Given the description of an element on the screen output the (x, y) to click on. 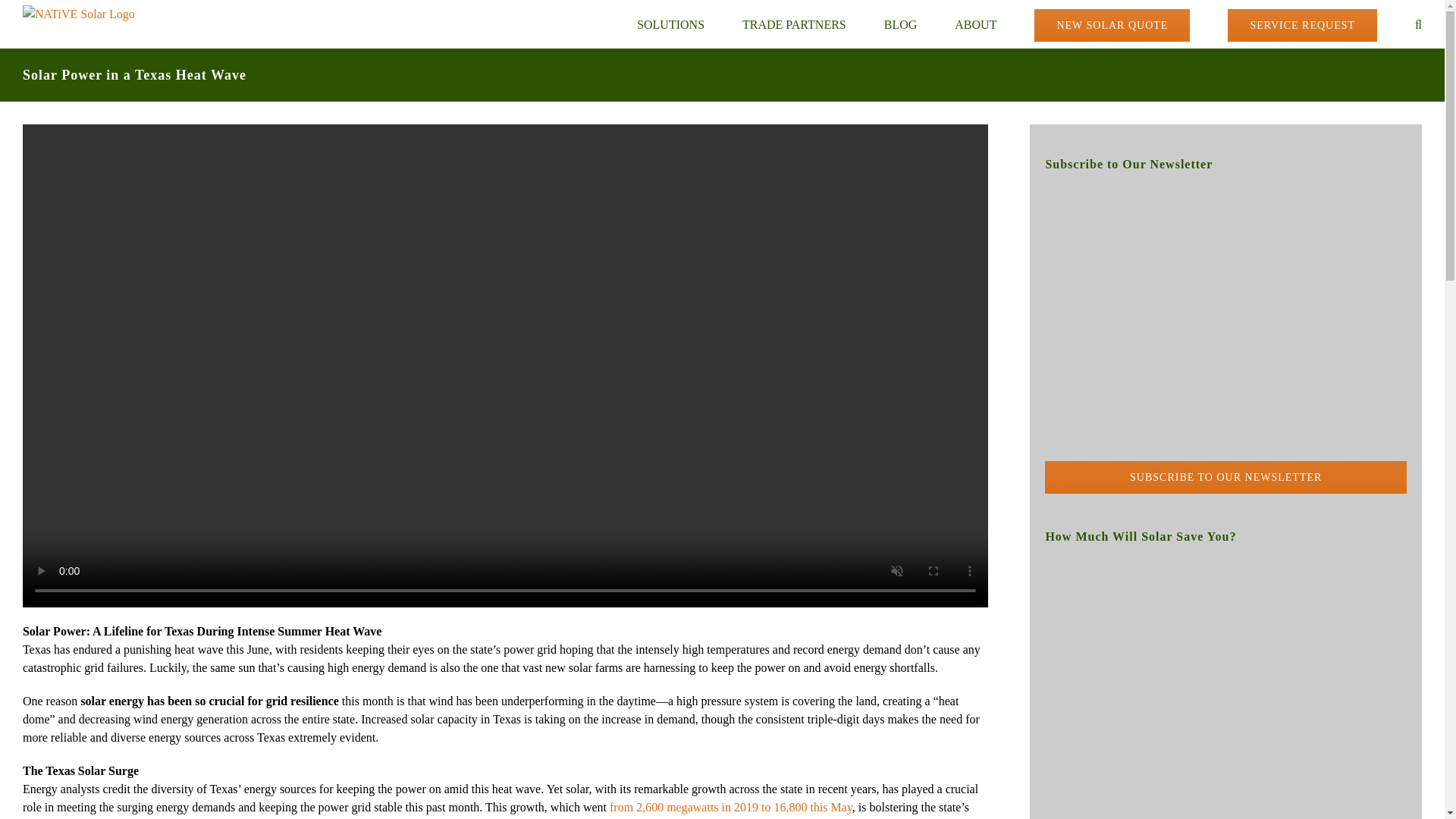
SUBSCRIBE TO OUR NEWSLETTER (1225, 341)
NEW SOLAR QUOTE (1111, 23)
from 2,600 megawatts in 2019 to 16,800 this May (730, 807)
SOLUTIONS (670, 23)
GET YOUR CUSTOM SOLAR QUOTE (1225, 690)
TRADE PARTNERS (793, 23)
ABOUT (975, 23)
SERVICE REQUEST (1302, 23)
